Given the description of an element on the screen output the (x, y) to click on. 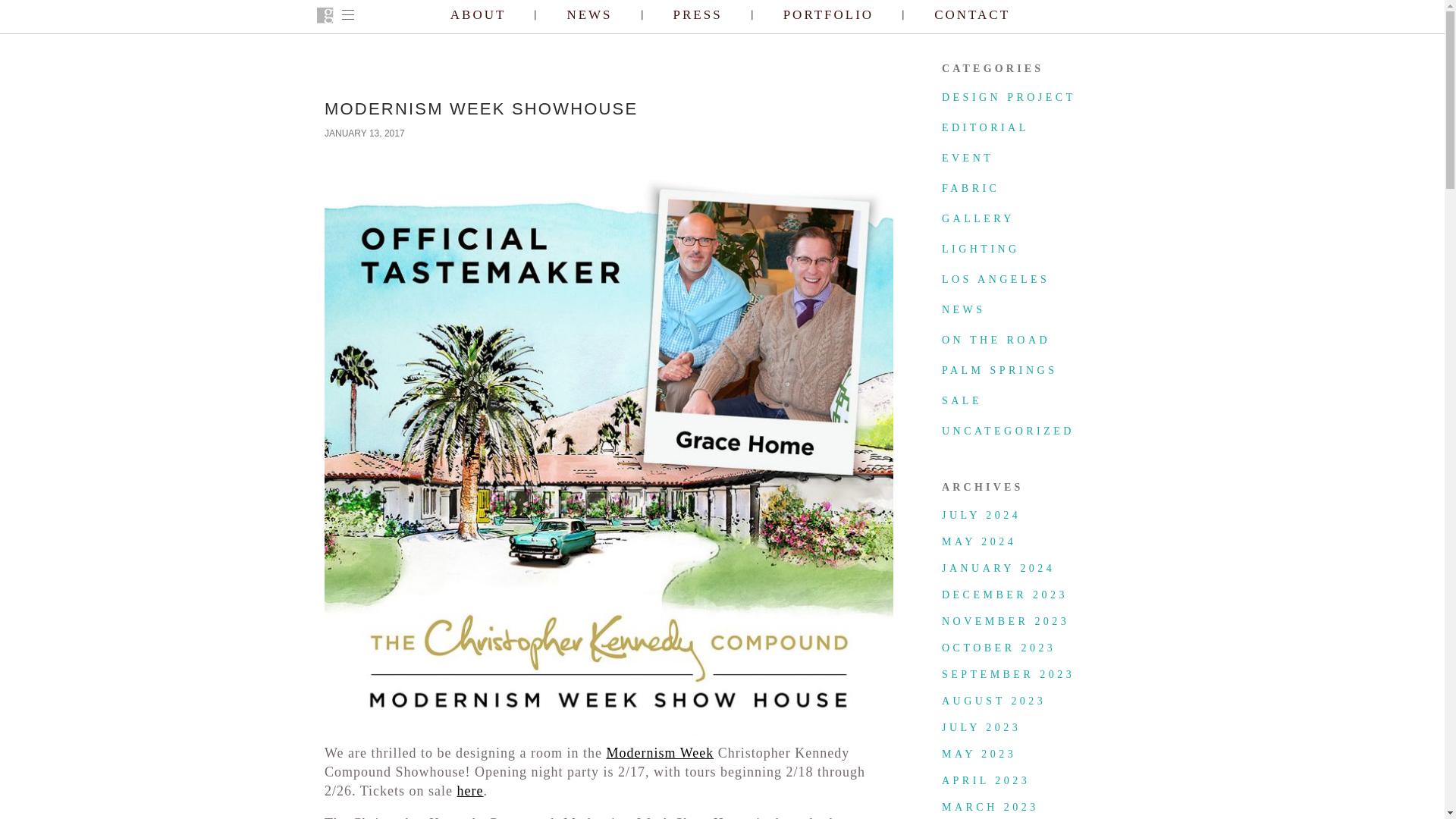
FABRIC (970, 188)
AUGUST 2023 (993, 700)
OCTOBER 2023 (998, 647)
UNCATEGORIZED (1008, 430)
ABOUT (477, 14)
NEWS (963, 309)
PALM SPRINGS (999, 369)
PRESS (697, 14)
JULY 2024 (981, 514)
EVENT (967, 157)
JANUARY 2024 (998, 568)
PORTFOLIO (829, 14)
GALLERY (978, 218)
Modernism Week (659, 752)
DECEMBER 2023 (1004, 594)
